Given the description of an element on the screen output the (x, y) to click on. 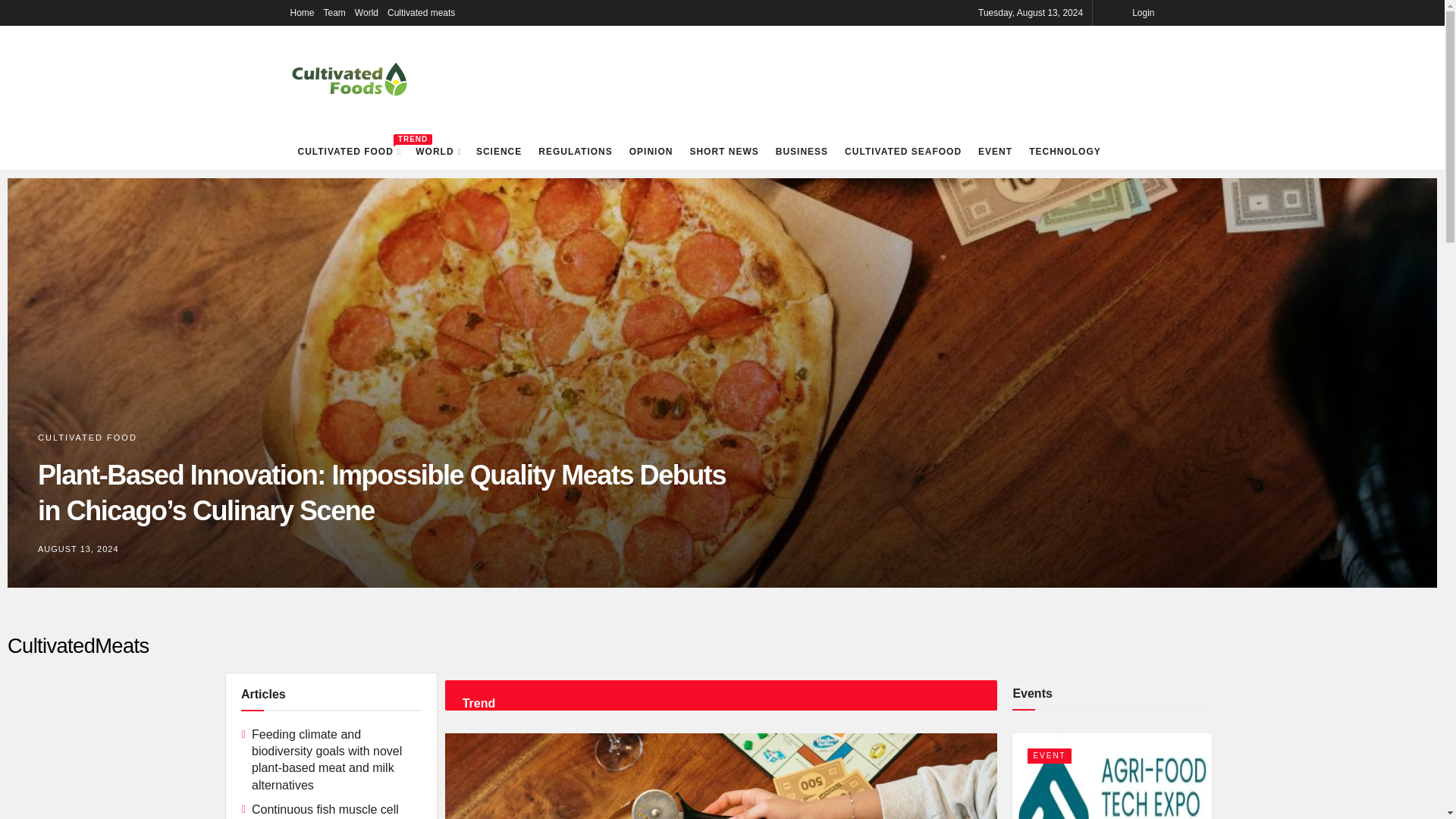
Cultivated meats (420, 12)
World (366, 12)
Login (1142, 12)
Home (343, 151)
